Given the description of an element on the screen output the (x, y) to click on. 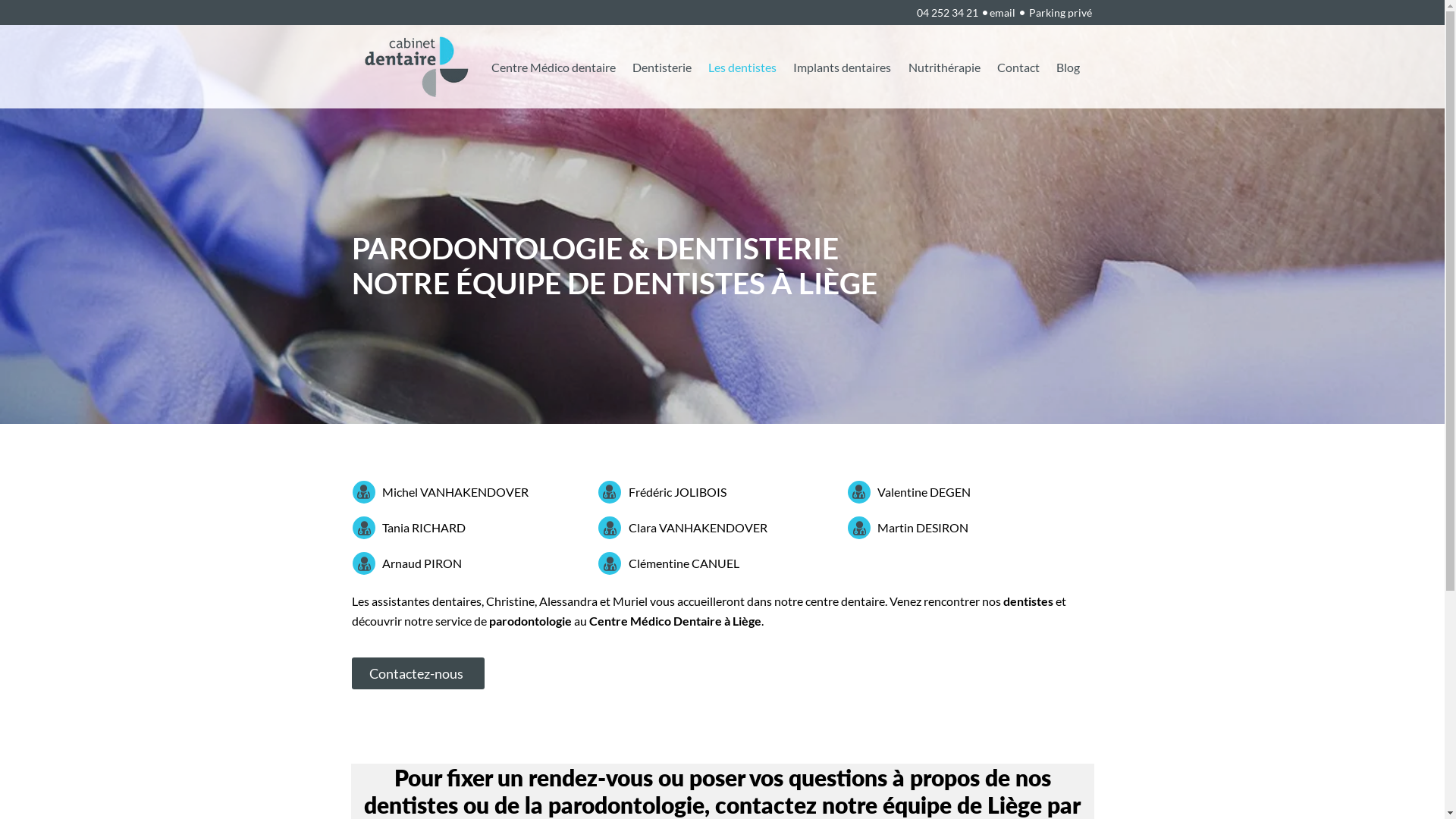
Contactez-nous Element type: text (417, 673)
Contact Element type: text (1018, 66)
Dentisterie Element type: text (661, 66)
04 252 34 21 Element type: text (948, 12)
Les dentistes Element type: text (741, 66)
email Element type: text (1003, 12)
Blog Element type: text (1068, 66)
Implants dentaires Element type: text (841, 66)
